Given the description of an element on the screen output the (x, y) to click on. 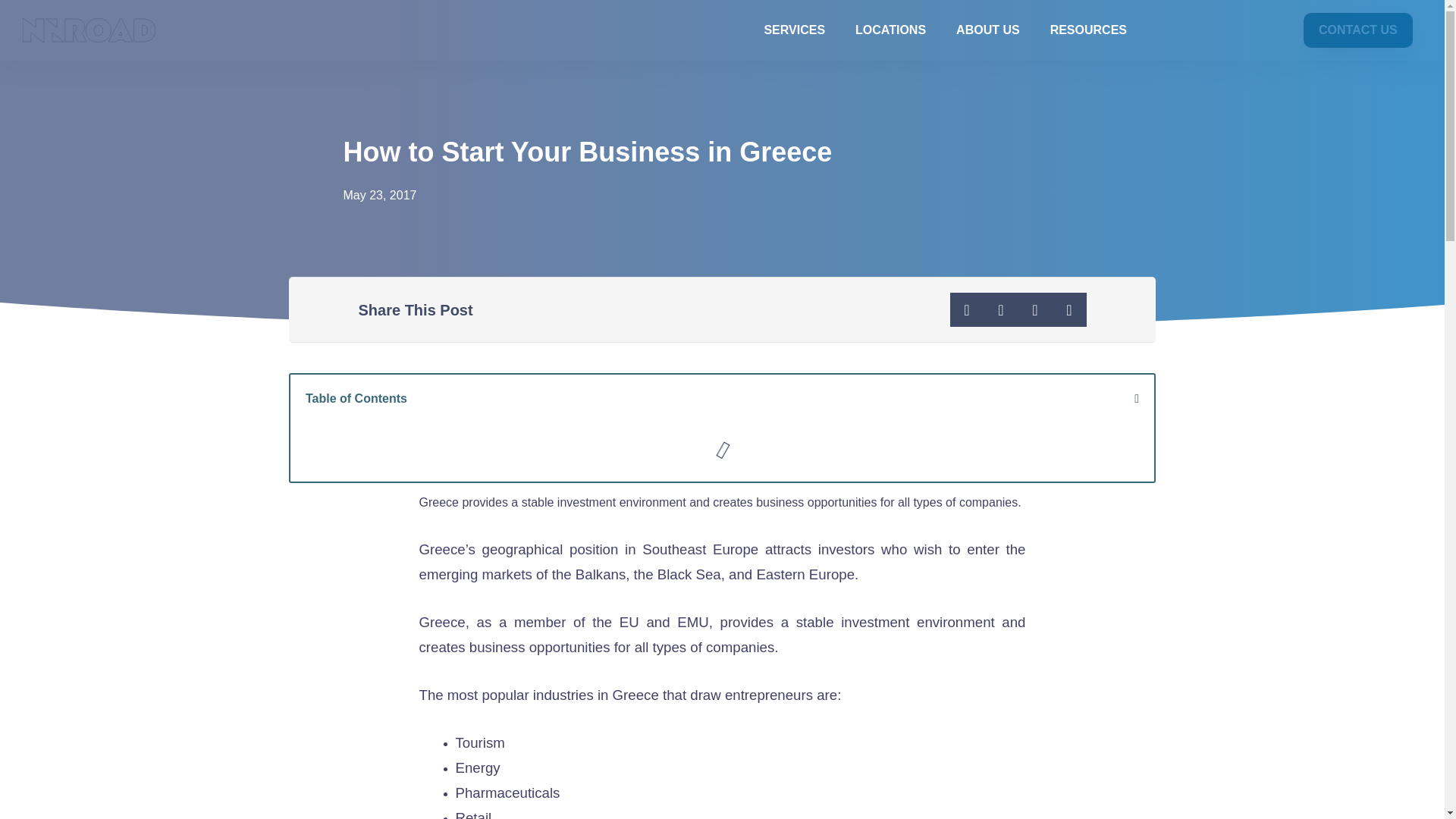
RESOURCES (1088, 30)
ABOUT US (987, 30)
SERVICES (794, 30)
LOCATIONS (890, 30)
